Given the description of an element on the screen output the (x, y) to click on. 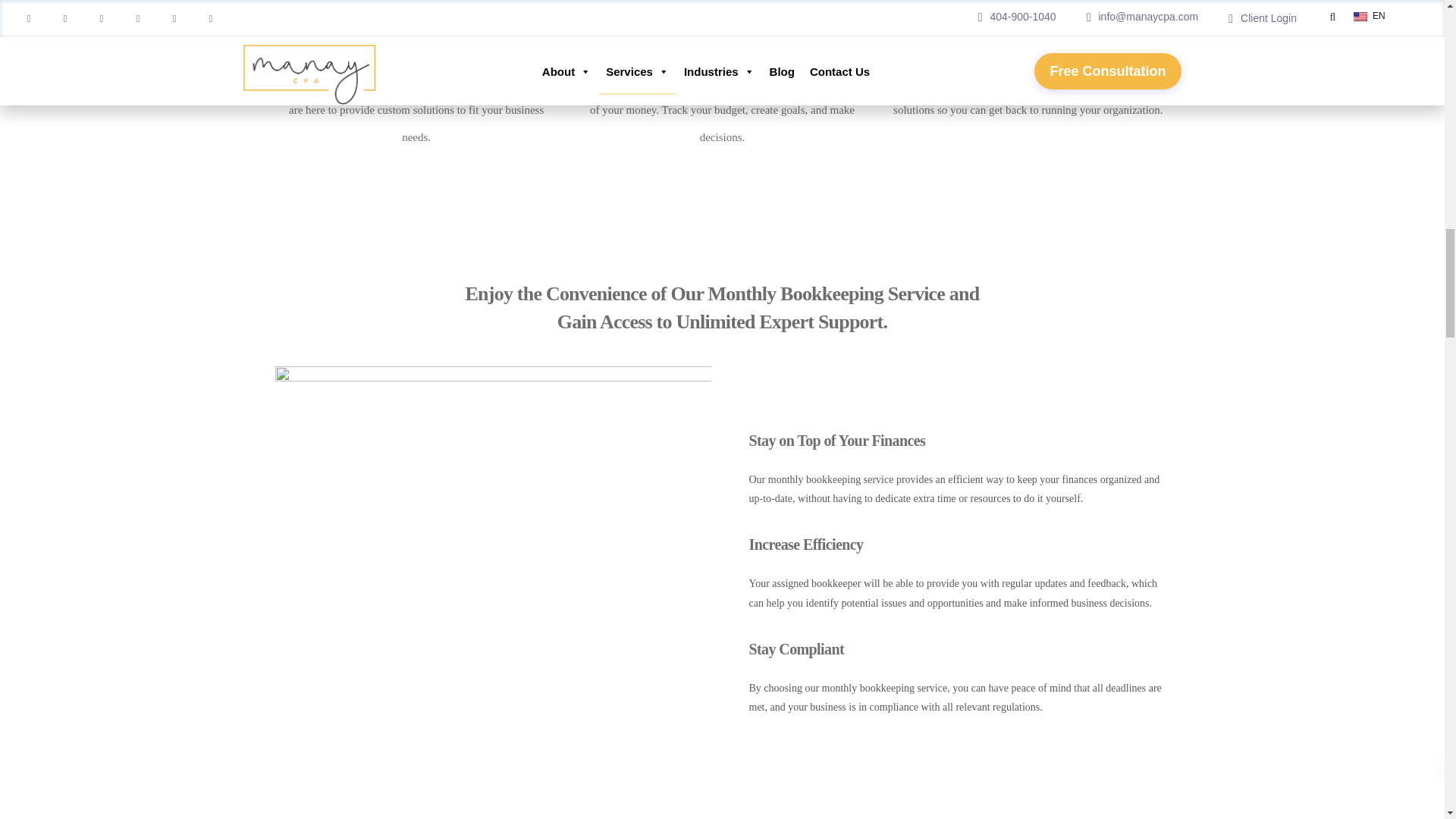
Personalized-Assistance (1027, 8)
Accurate-Financial-Reporting (721, 8)
Tailored-Bookkeeping-Solutions (416, 8)
